Given the description of an element on the screen output the (x, y) to click on. 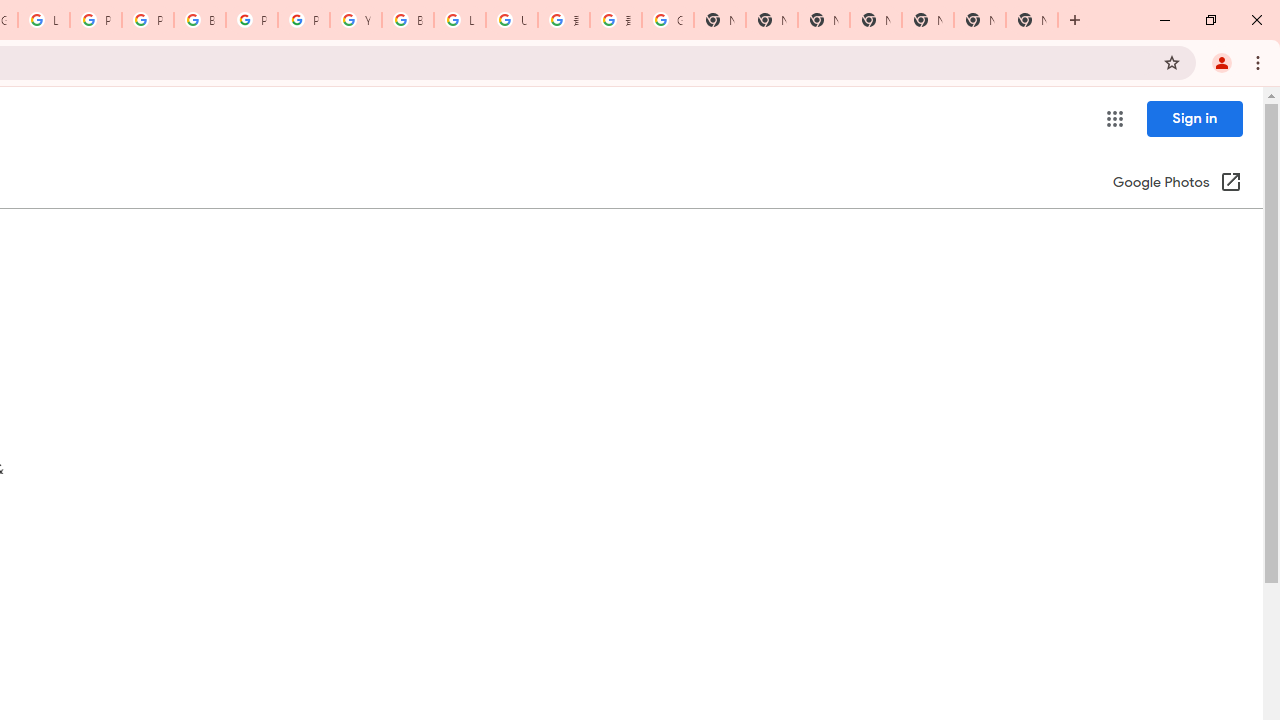
YouTube (355, 20)
Browse Chrome as a guest - Computer - Google Chrome Help (407, 20)
New Tab (1032, 20)
Privacy Help Center - Policies Help (95, 20)
Google Photos (Open in a new window) (1177, 183)
Privacy Help Center - Policies Help (147, 20)
